Given the description of an element on the screen output the (x, y) to click on. 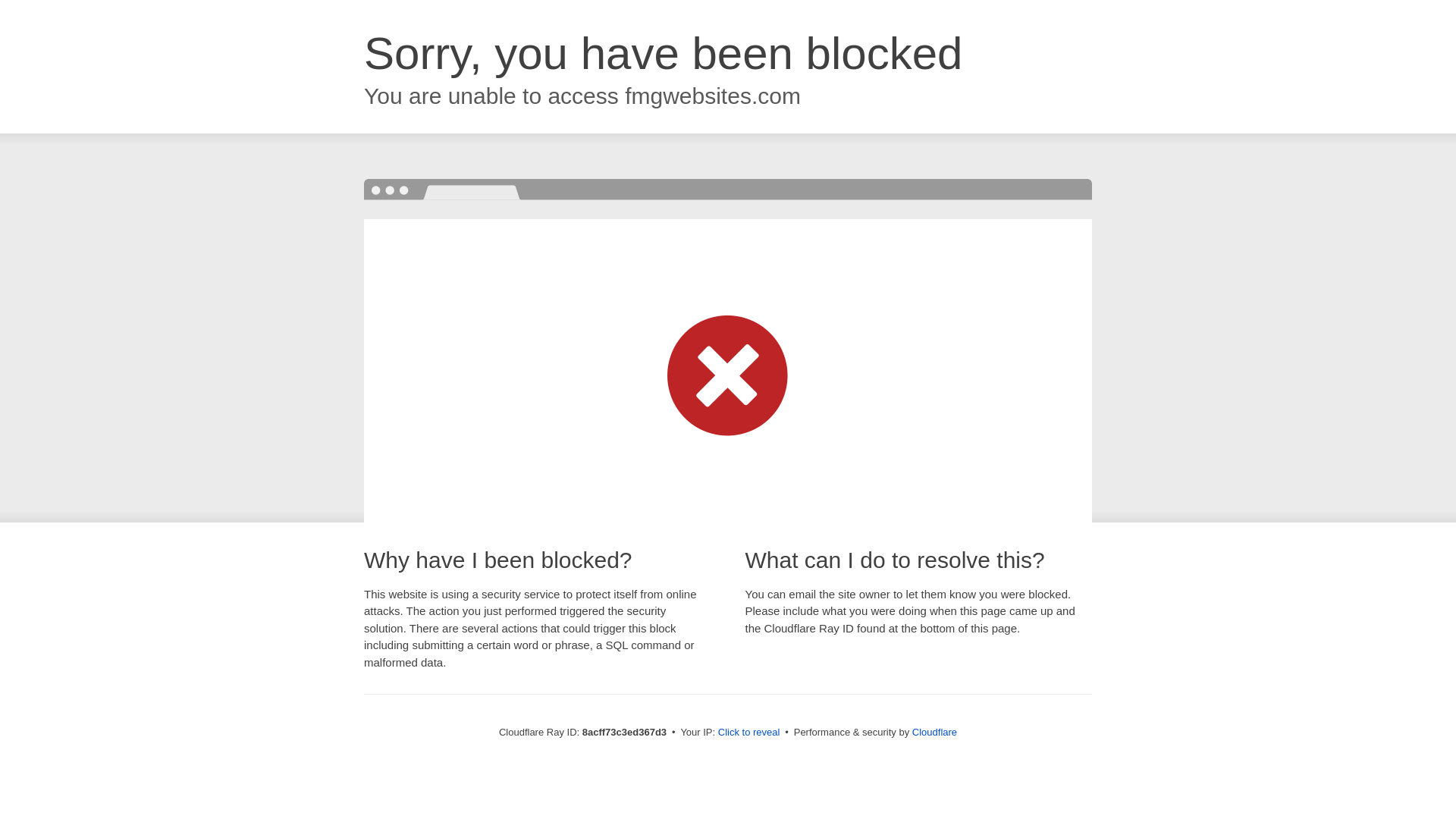
Click to reveal (748, 732)
Cloudflare (934, 731)
